Given the description of an element on the screen output the (x, y) to click on. 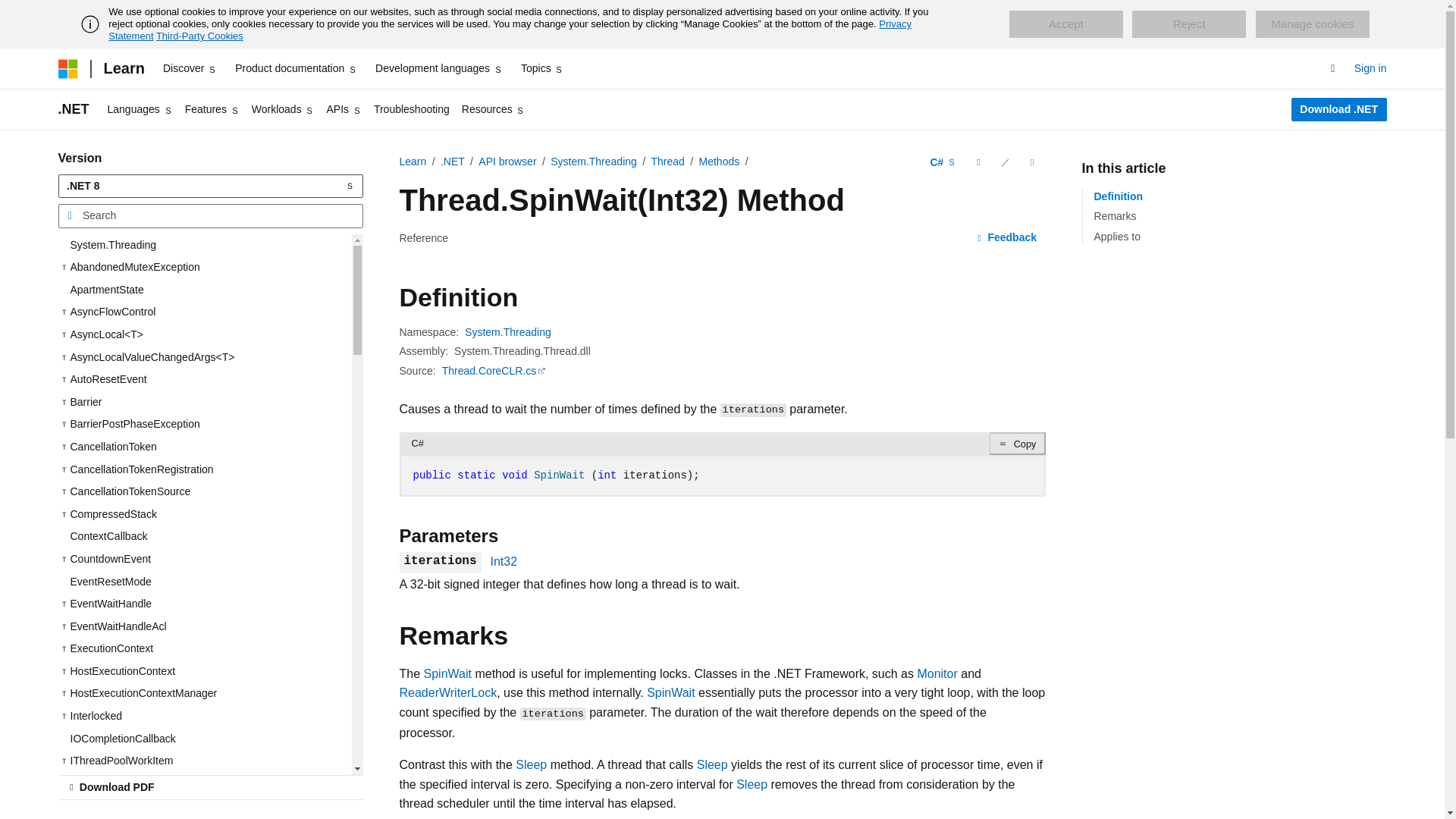
Reject (1189, 23)
Language (943, 161)
Product documentation (295, 68)
More actions (1031, 161)
Features (212, 109)
Skip to main content (11, 11)
Manage cookies (1312, 23)
Privacy Statement (509, 29)
Accept (1065, 23)
Sign in (1370, 68)
Topics (542, 68)
Discover (189, 68)
Edit This Document (1004, 161)
Third-Party Cookies (199, 35)
Learn (123, 68)
